Given the description of an element on the screen output the (x, y) to click on. 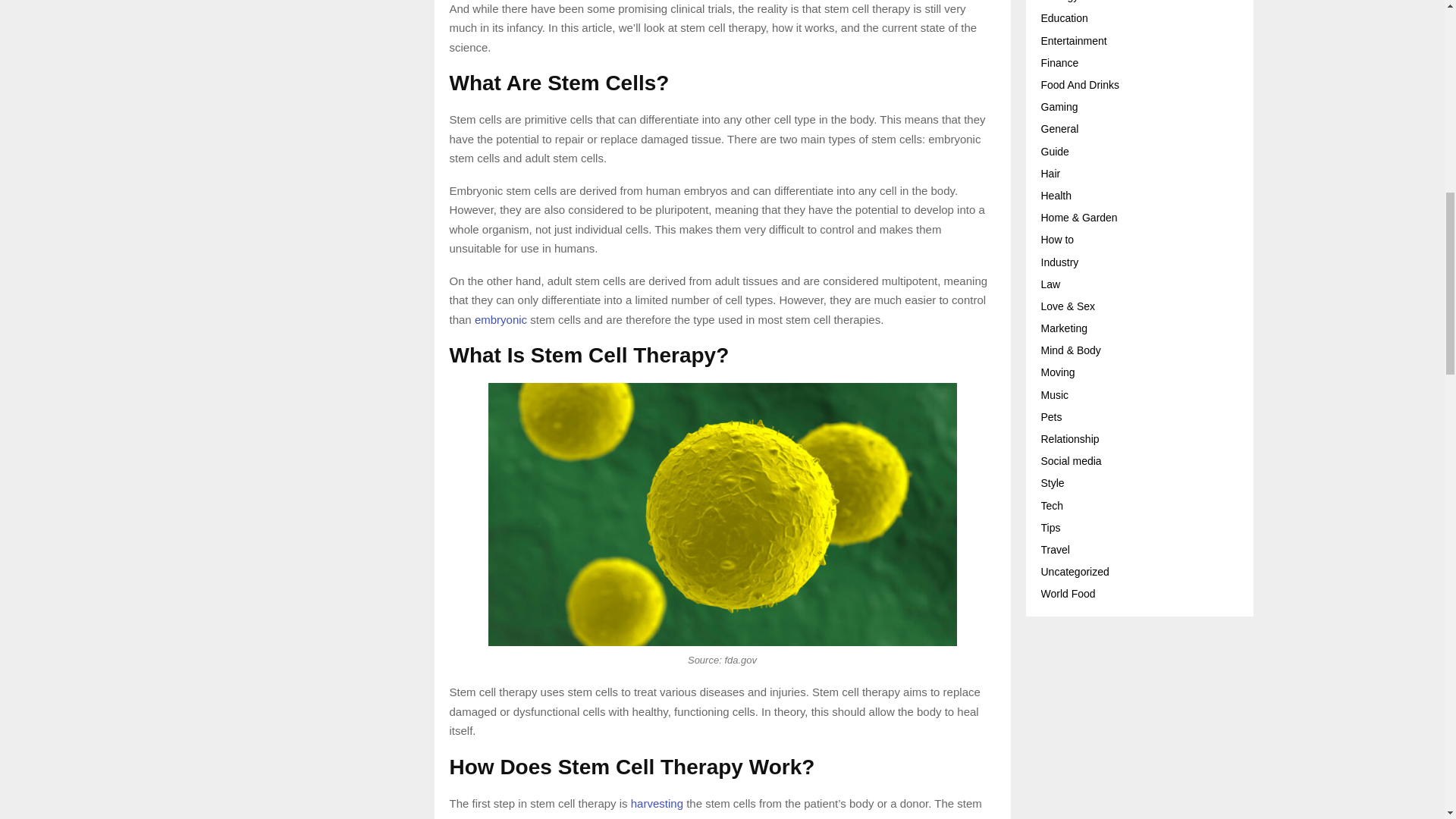
harvesting (656, 802)
embryonic (500, 318)
